Given the description of an element on the screen output the (x, y) to click on. 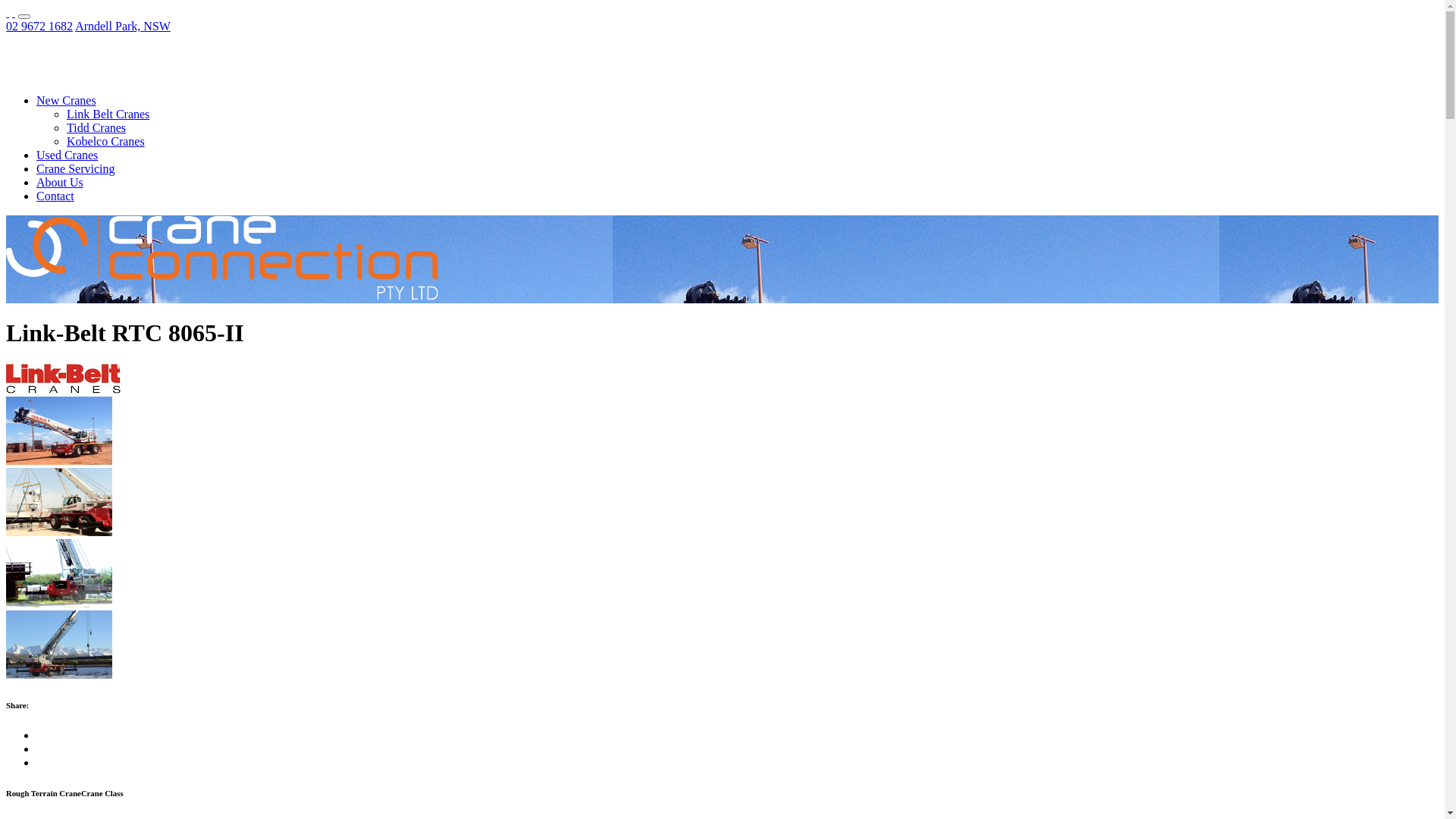
New Cranes Element type: text (66, 100)
About Us Element type: text (59, 181)
Arndell Park, NSW Element type: text (122, 25)
Link Belt Cranes Element type: text (107, 113)
  Element type: text (7, 12)
Tidd Cranes Element type: text (95, 127)
Kobelco Cranes Element type: text (105, 140)
Crane Connection Element type: hover (222, 295)
Used Cranes Element type: text (66, 154)
  Element type: text (13, 12)
Contact Element type: text (55, 195)
Crane Connection Element type: hover (125, 74)
Crane Servicing Element type: text (75, 168)
02 9672 1682 Element type: text (39, 25)
